Given the description of an element on the screen output the (x, y) to click on. 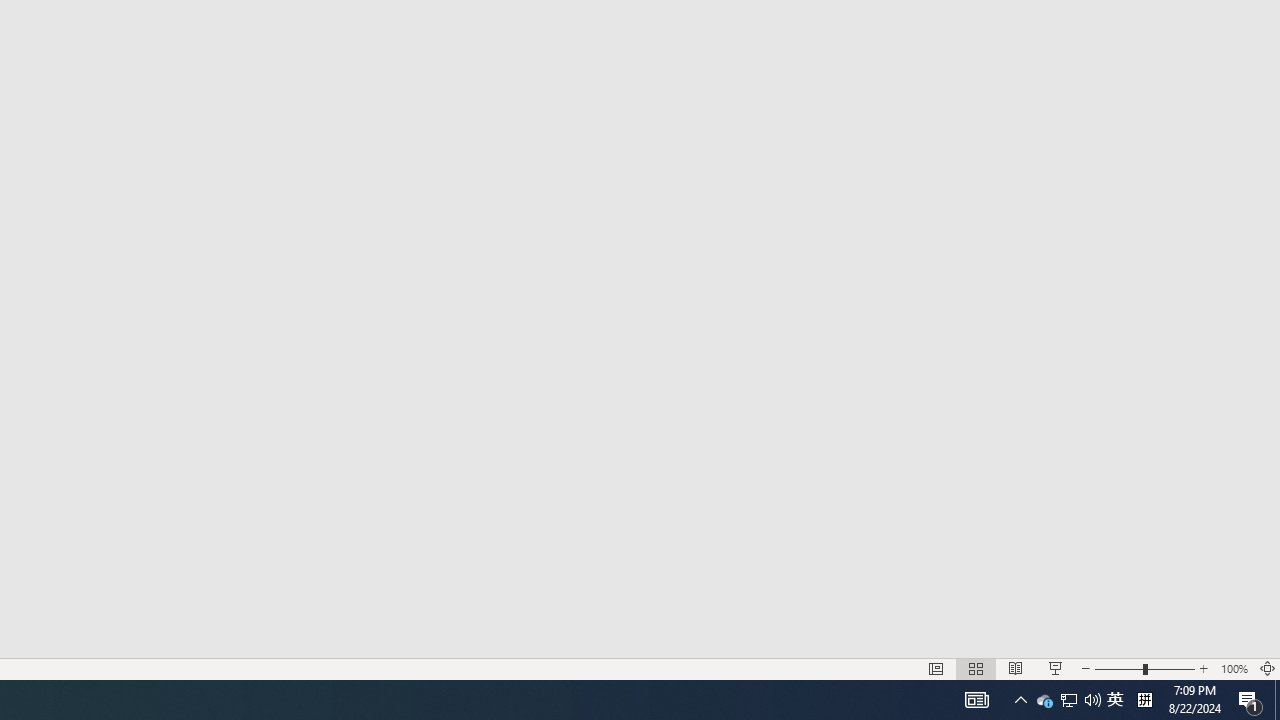
Zoom In (1204, 668)
Zoom to Fit  (1267, 668)
Zoom (1144, 668)
Slide Sorter (975, 668)
Reading View (1015, 668)
Zoom Out (1118, 668)
Zoom 100% (1234, 668)
Normal (936, 668)
